Given the description of an element on the screen output the (x, y) to click on. 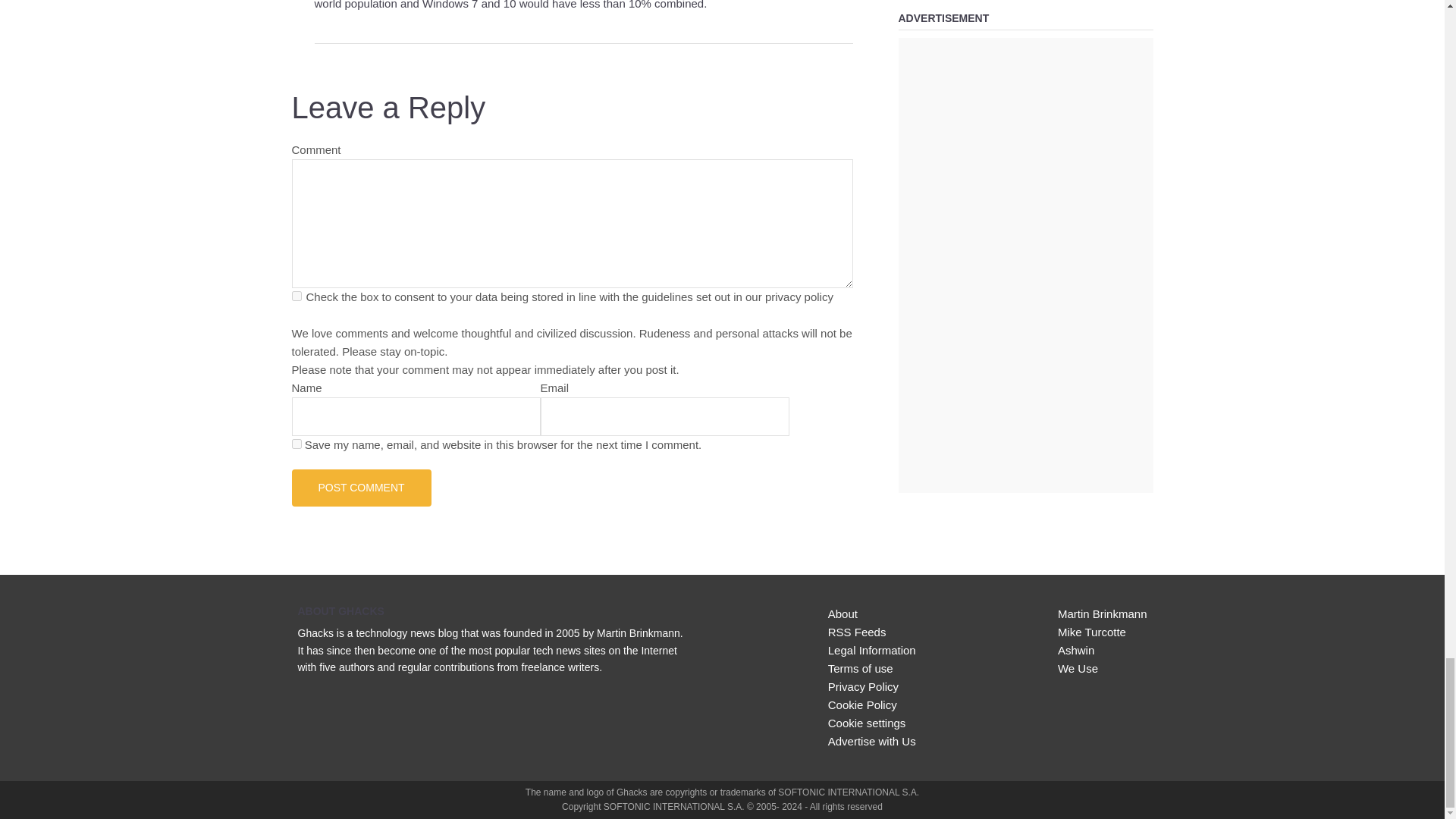
yes (296, 443)
Post Comment (360, 487)
privacy-key (296, 296)
